Given the description of an element on the screen output the (x, y) to click on. 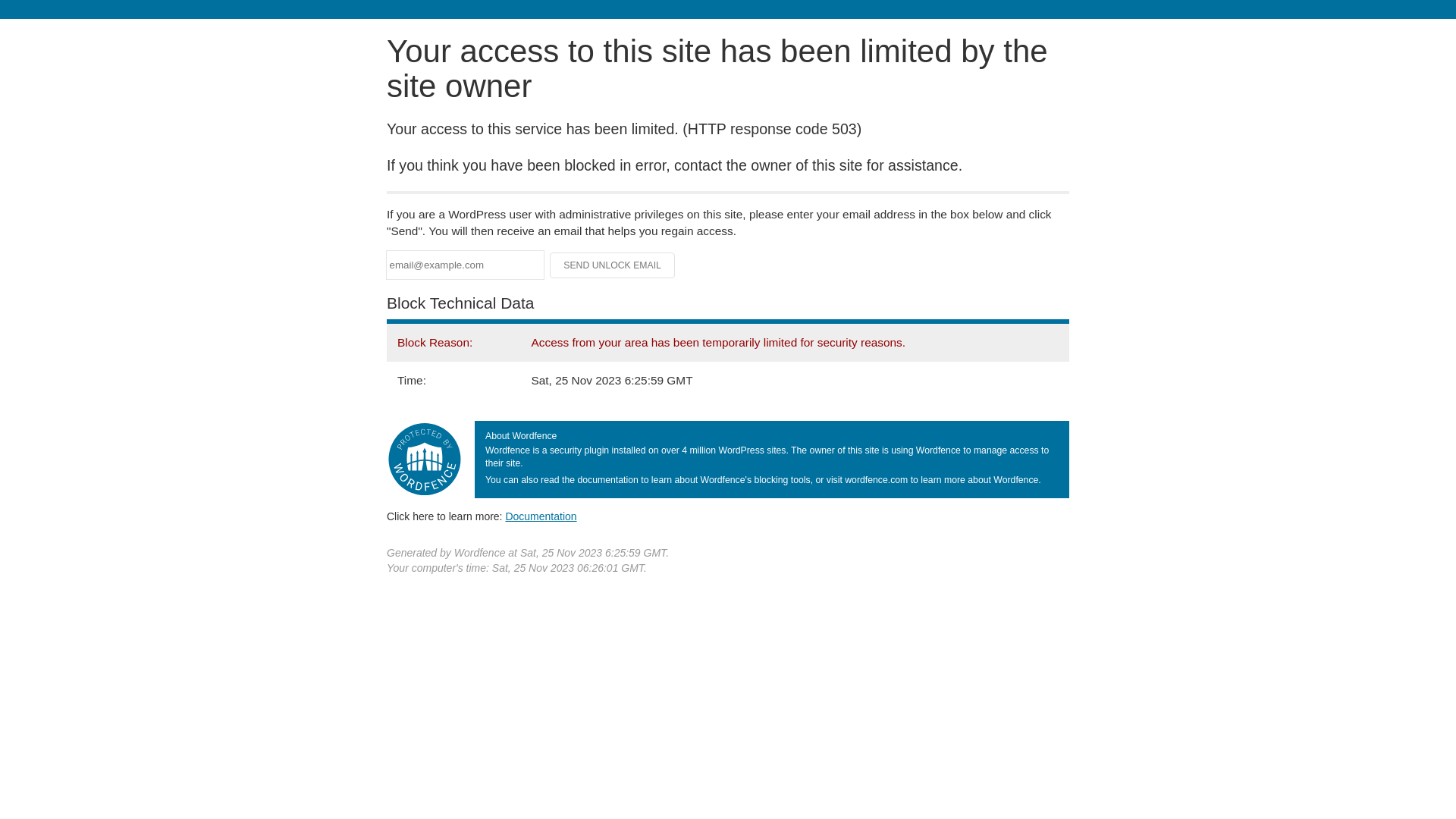
Documentation Element type: text (540, 516)
Send Unlock Email Element type: text (612, 265)
